Given the description of an element on the screen output the (x, y) to click on. 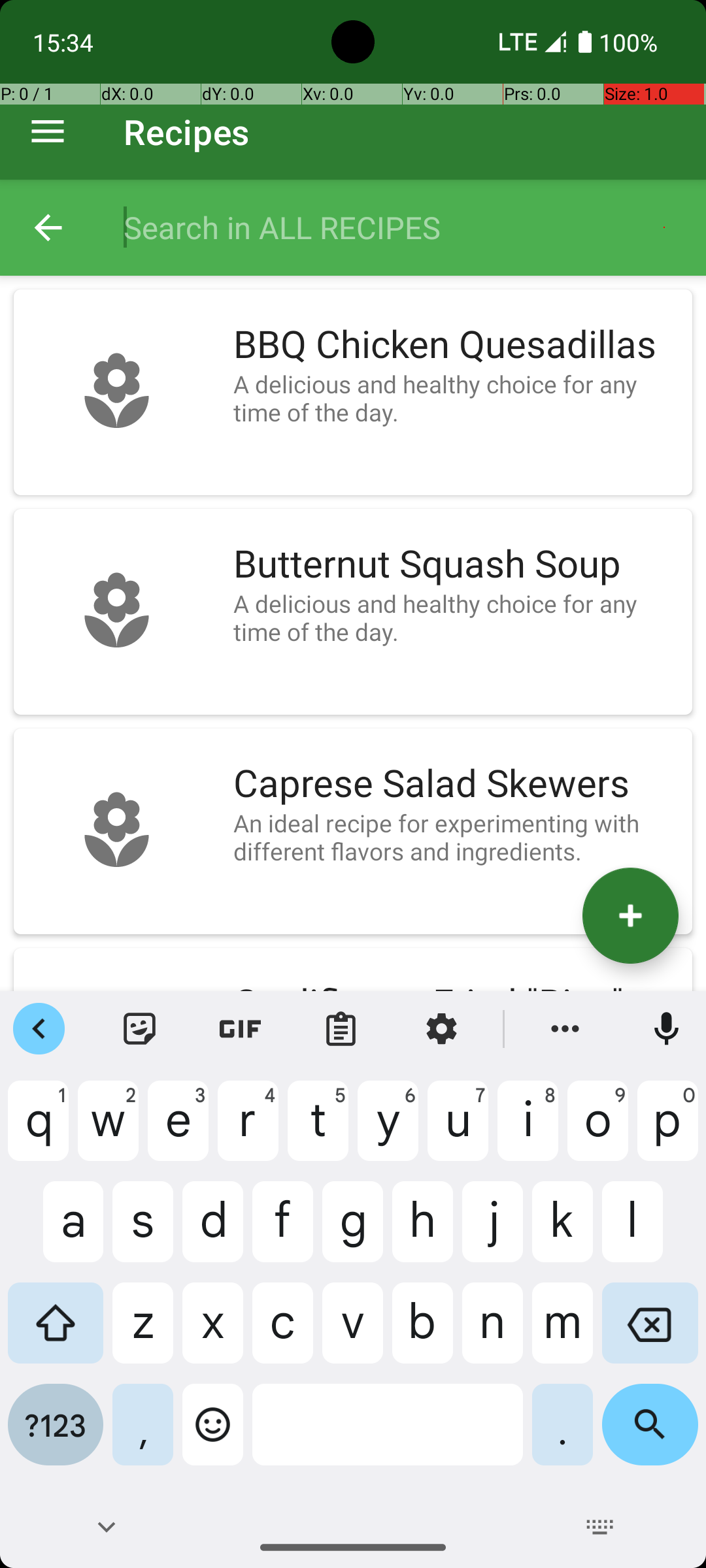
Search in ALL RECIPES Element type: android.widget.AutoCompleteTextView (400, 227)
